Given the description of an element on the screen output the (x, y) to click on. 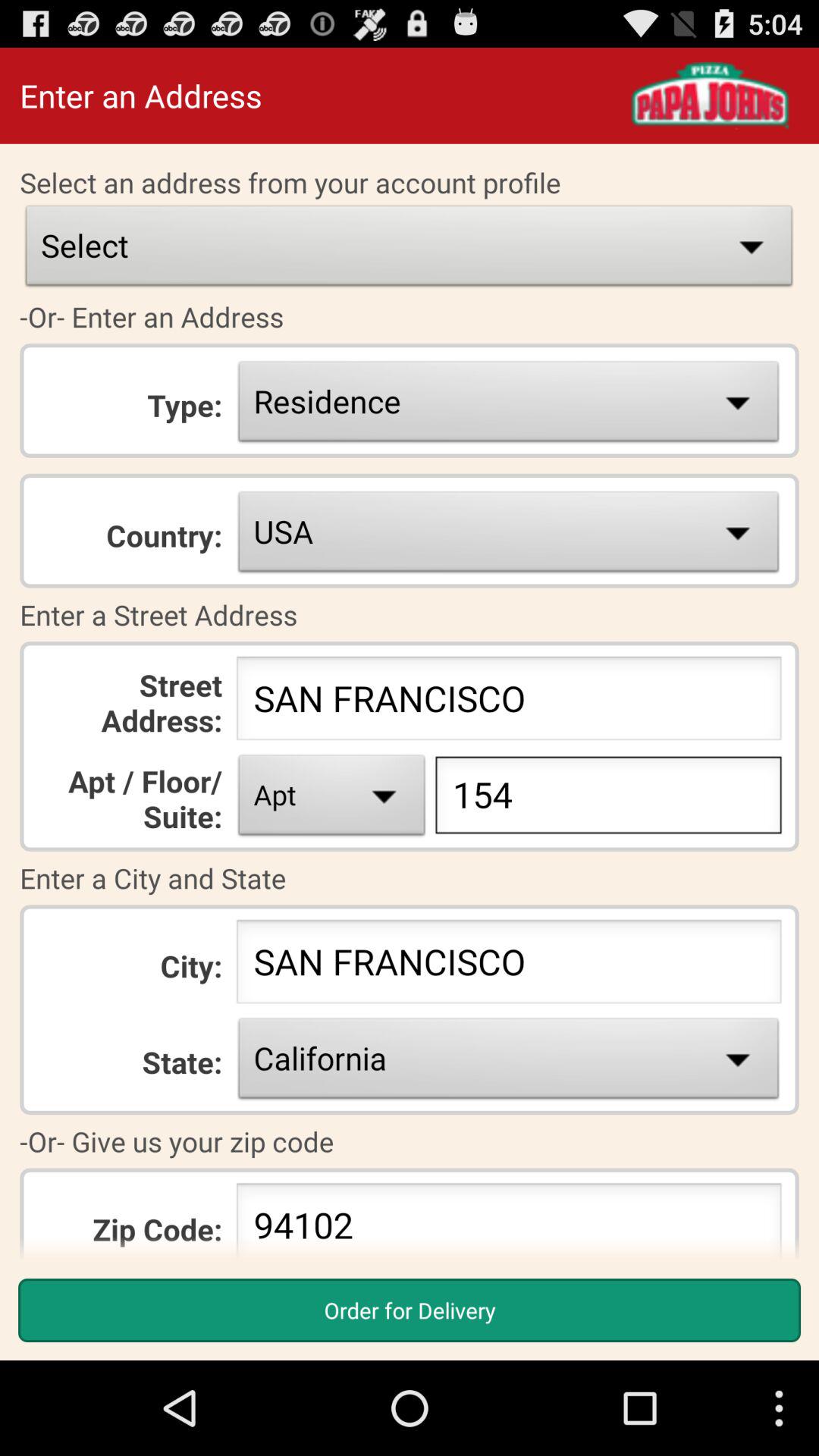
select the apartment (331, 799)
click the logo in the top left (709, 95)
click on order for delivery (409, 1310)
type 154 just to the right of apt drop down box (608, 799)
type san francisco just to the right of city (508, 965)
go to the usa box (508, 535)
